Given the description of an element on the screen output the (x, y) to click on. 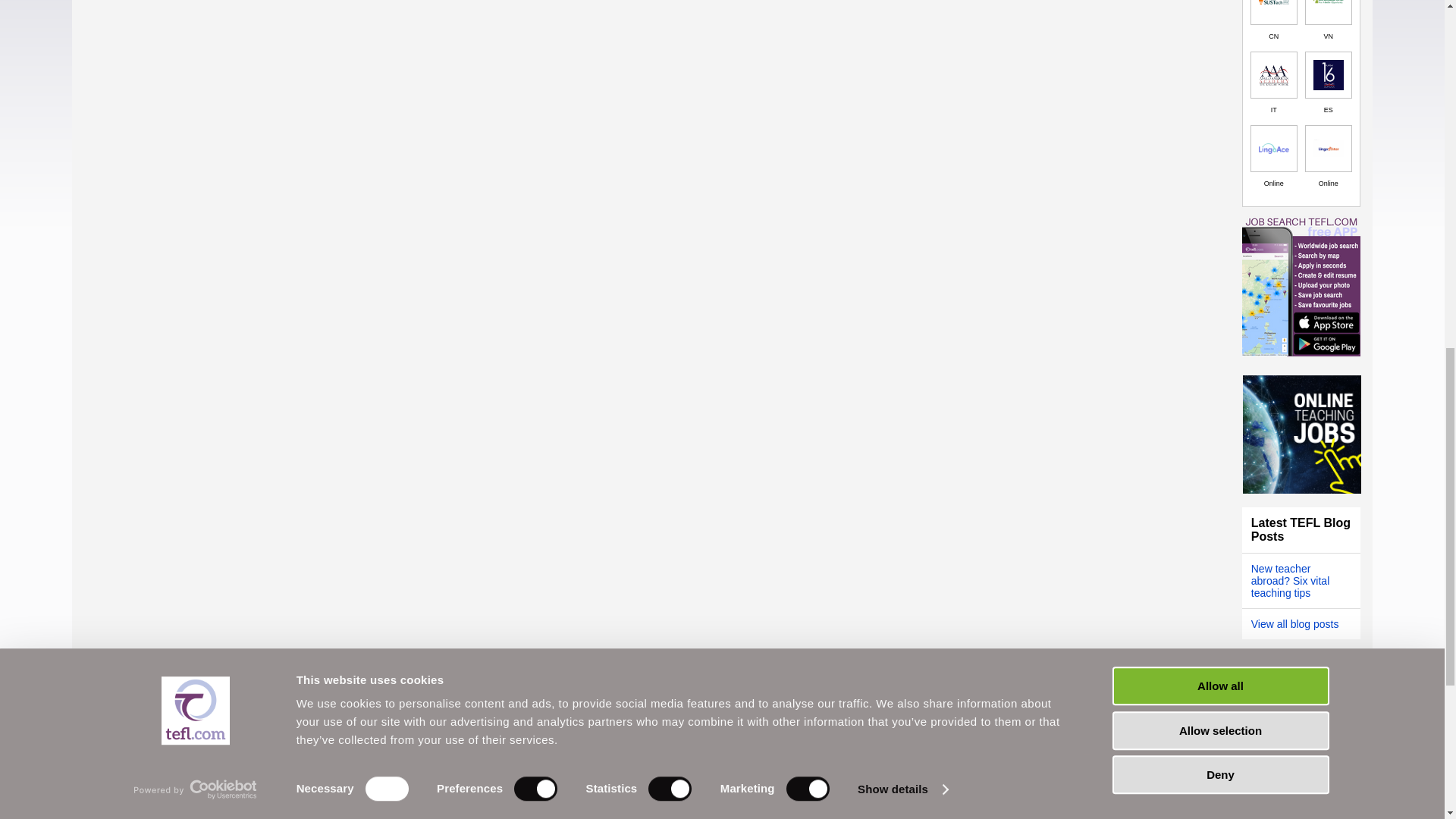
Search Online Teaching Jobs (1302, 434)
Free newsletters (1301, 742)
Free newsletters (1301, 697)
